Given the description of an element on the screen output the (x, y) to click on. 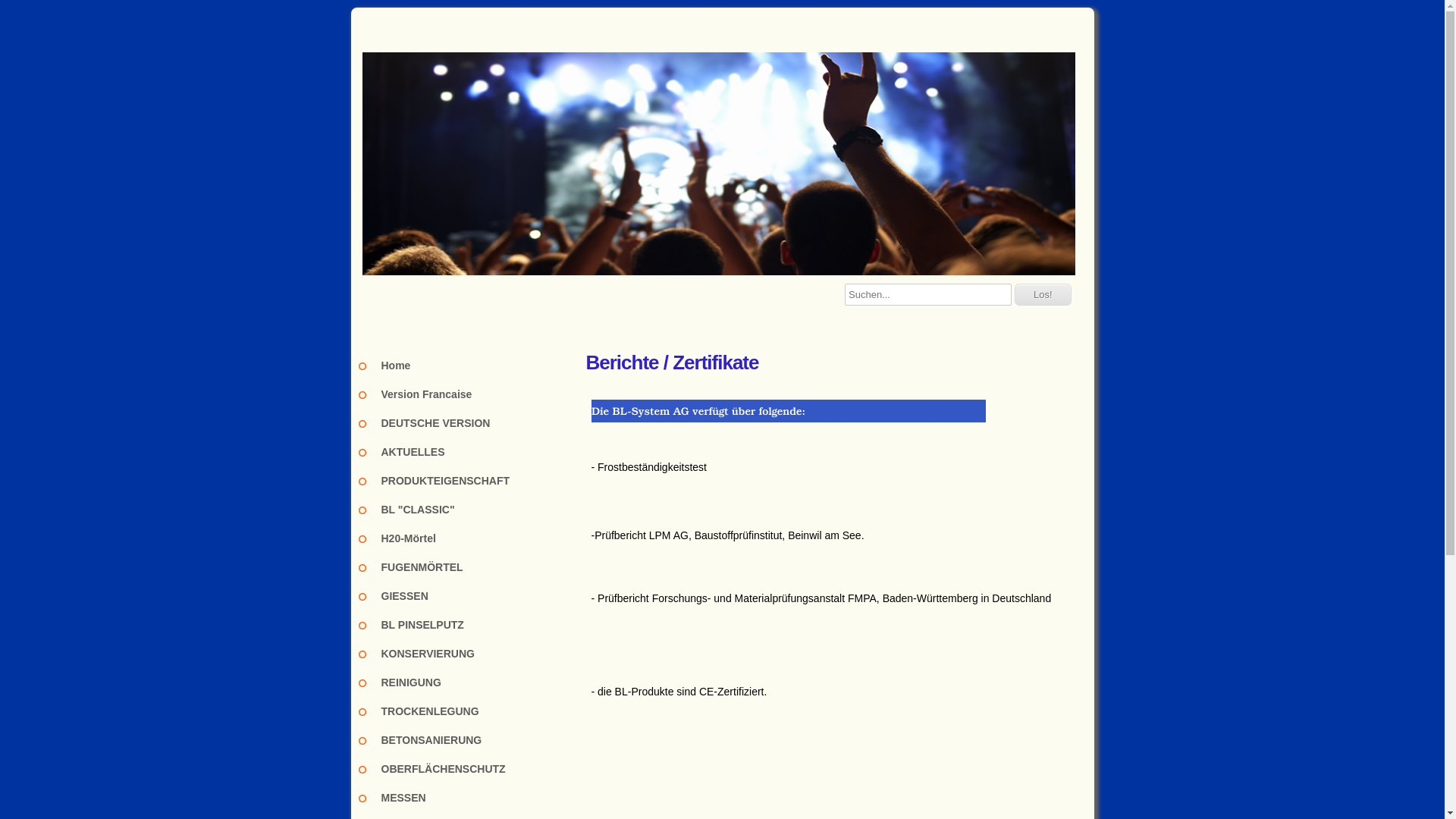
BL PINSELPUTZ Element type: text (471, 624)
MESSEN Element type: text (471, 797)
PRODUKTEIGENSCHAFT Element type: text (471, 480)
AKTUELLES Element type: text (471, 451)
Los! Element type: text (1042, 294)
GIESSEN Element type: text (471, 595)
Version Francaise Element type: text (471, 394)
DEUTSCHE VERSION Element type: text (471, 422)
REINIGUNG Element type: text (471, 682)
TROCKENLEGUNG Element type: text (471, 711)
Home Element type: text (471, 365)
BL "CLASSIC" Element type: text (471, 509)
KONSERVIERUNG Element type: text (471, 653)
BETONSANIERUNG Element type: text (471, 739)
